Given the description of an element on the screen output the (x, y) to click on. 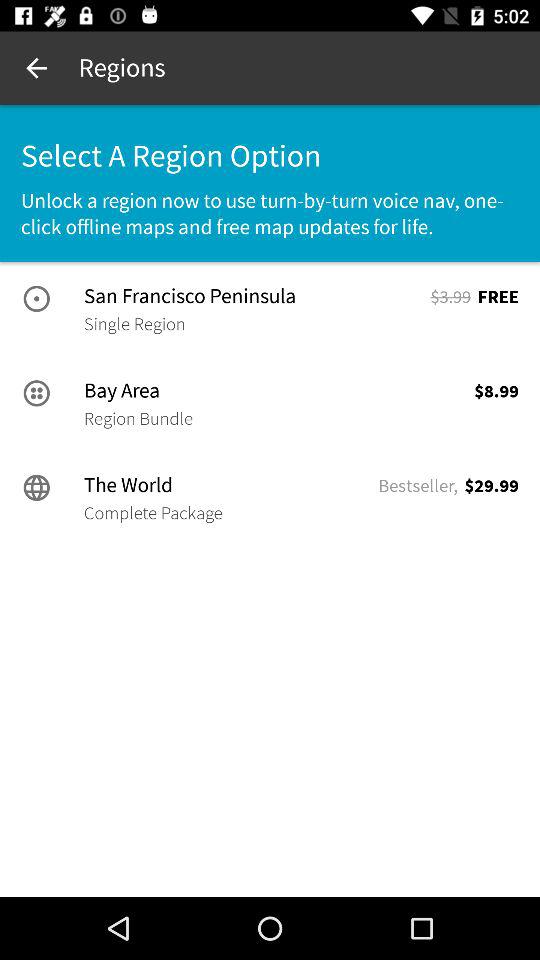
launch san francisco peninsula icon (255, 296)
